Given the description of an element on the screen output the (x, y) to click on. 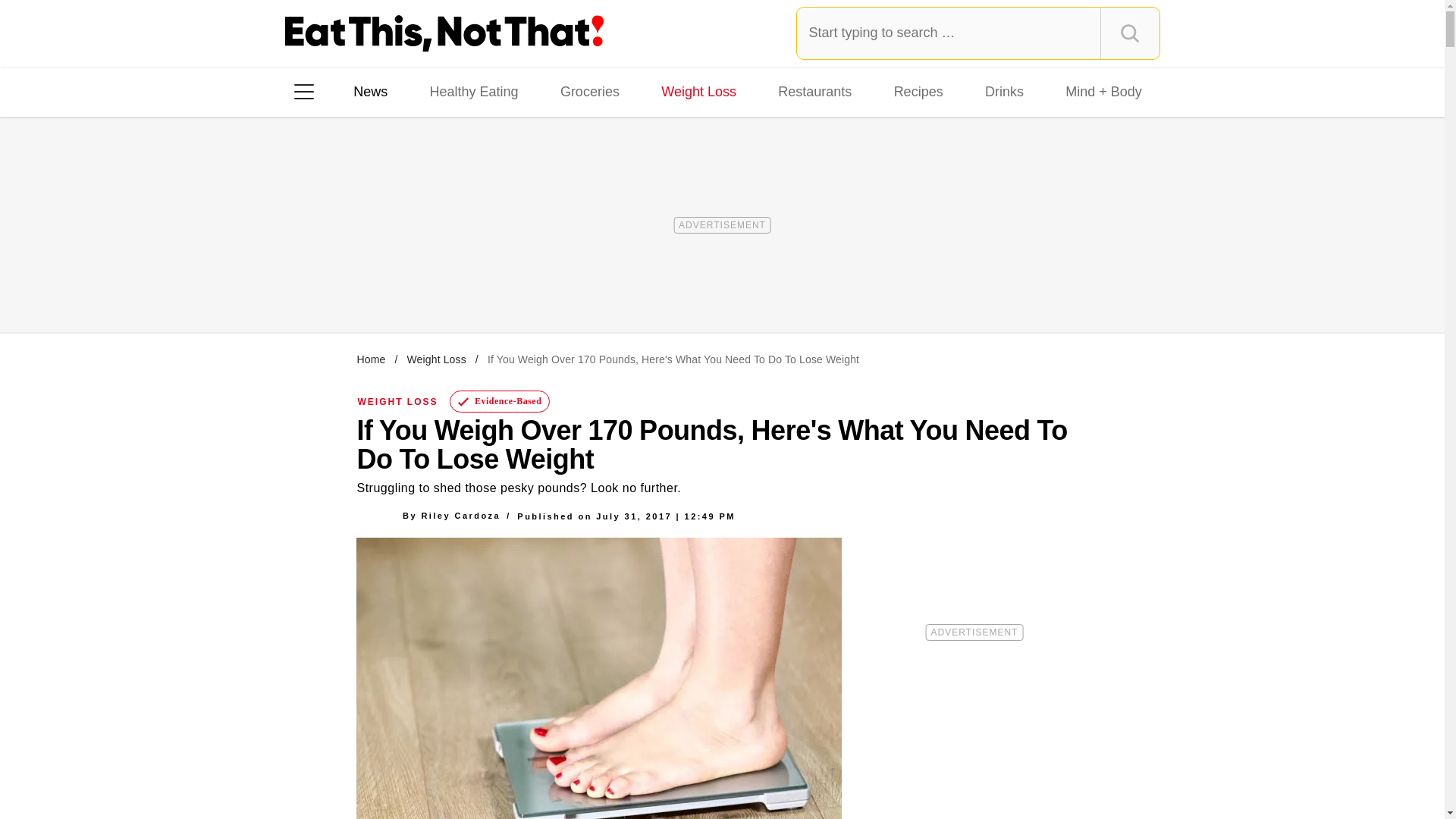
Type and press Enter to search (978, 32)
Instagram (357, 287)
Facebook (314, 287)
Home (370, 358)
Recipes (918, 91)
Restaurants (814, 91)
News (370, 91)
Groceries (590, 91)
Facebook (314, 287)
TikTok (399, 287)
WEIGHT LOSS (398, 401)
Weight Loss (698, 91)
Healthy Eating (473, 91)
Pinterest (443, 287)
Pinterest (443, 287)
